Given the description of an element on the screen output the (x, y) to click on. 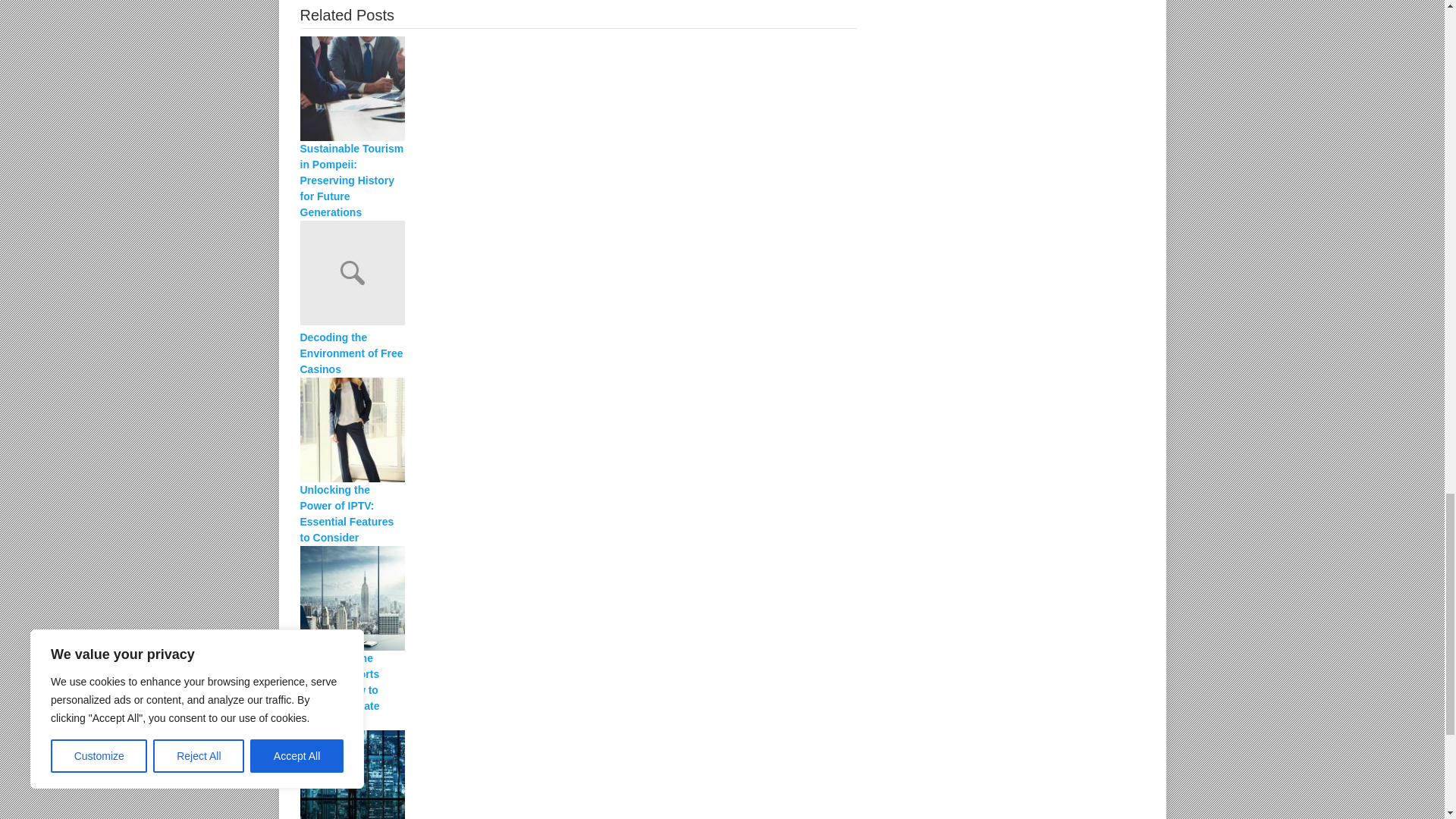
Decoding the Environment of Free Casinos (351, 353)
Unlocking the Power of IPTV: Essential Features to Consider (578, 429)
Decoding the Environment of Free Casinos (578, 275)
Decoding the Environment of Free Casinos (351, 353)
Unlocking the Power of IPTV: Essential Features to Consider (351, 514)
The Latest Trends in Eyewear Fashion (578, 774)
